Given the description of an element on the screen output the (x, y) to click on. 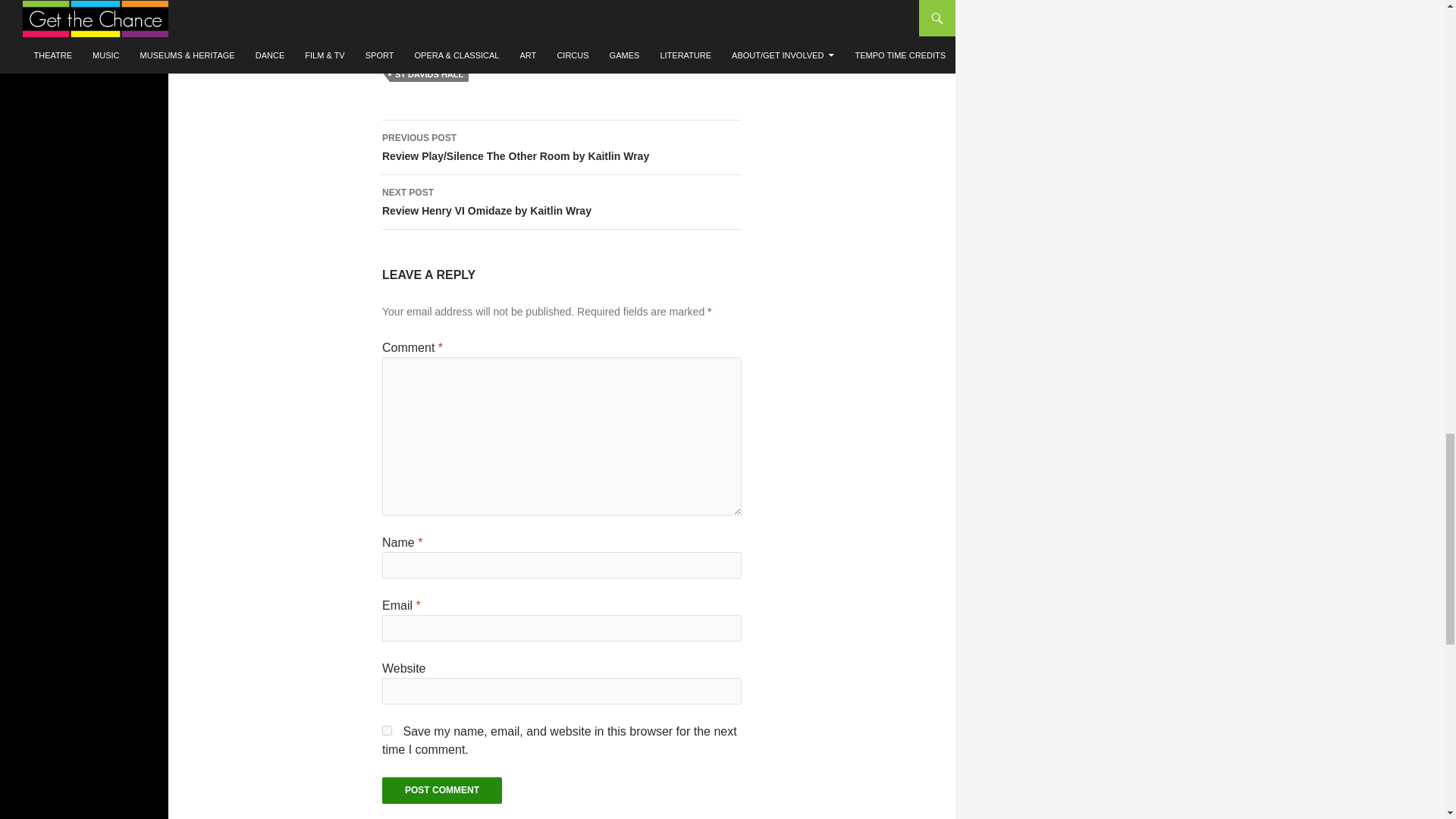
ST DAVIDS HALL (429, 73)
Post Comment (441, 790)
BEYOND THE BARRICADE (448, 55)
Post Comment (441, 790)
JAMES BRIGGS (561, 202)
LES MISERABLES (555, 55)
yes (645, 55)
